Given the description of an element on the screen output the (x, y) to click on. 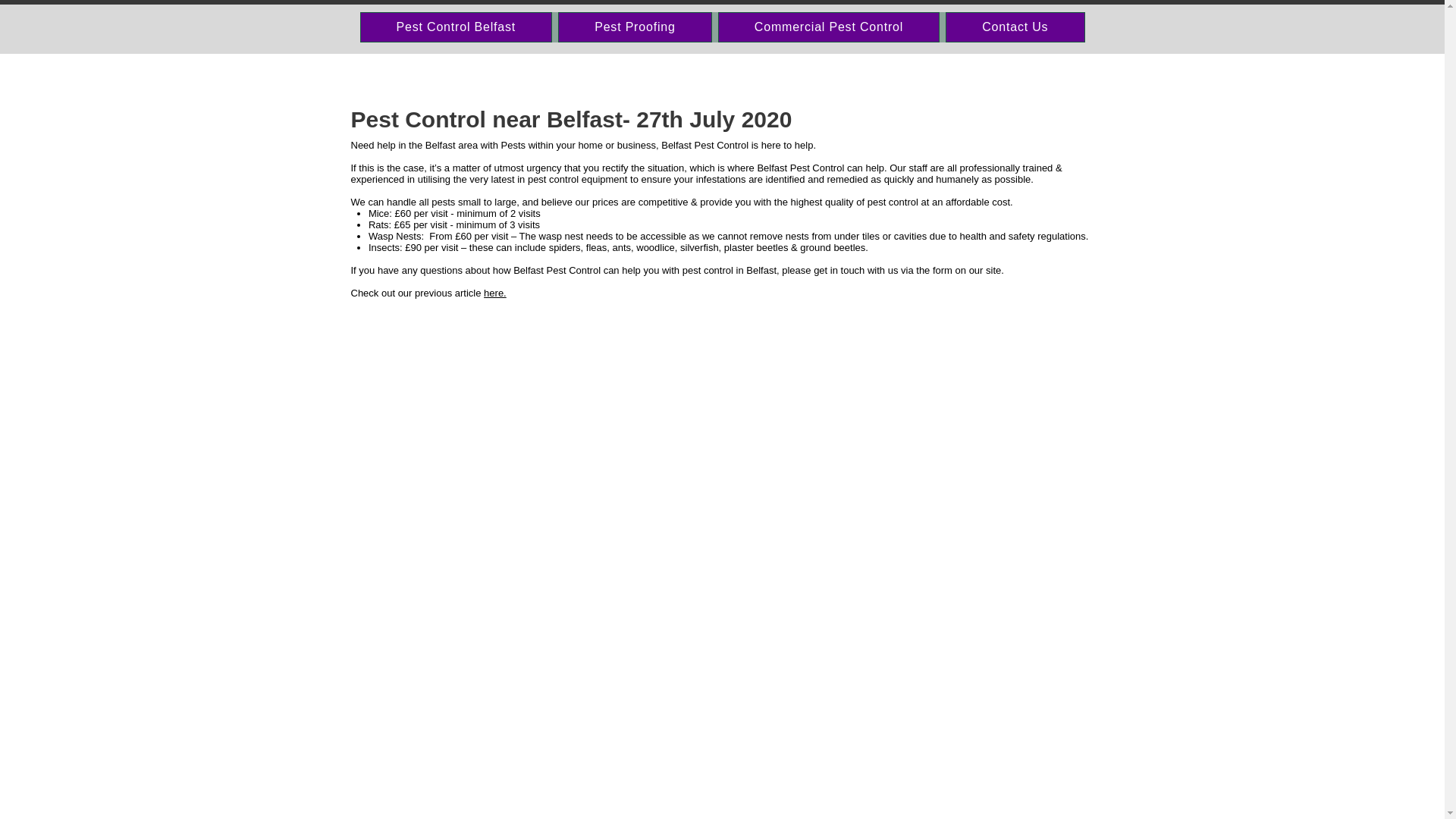
Pest Control Belfast (455, 27)
Pest Proofing (634, 27)
Contact Us (1014, 27)
here. (494, 292)
Commercial Pest Control (828, 27)
